Given the description of an element on the screen output the (x, y) to click on. 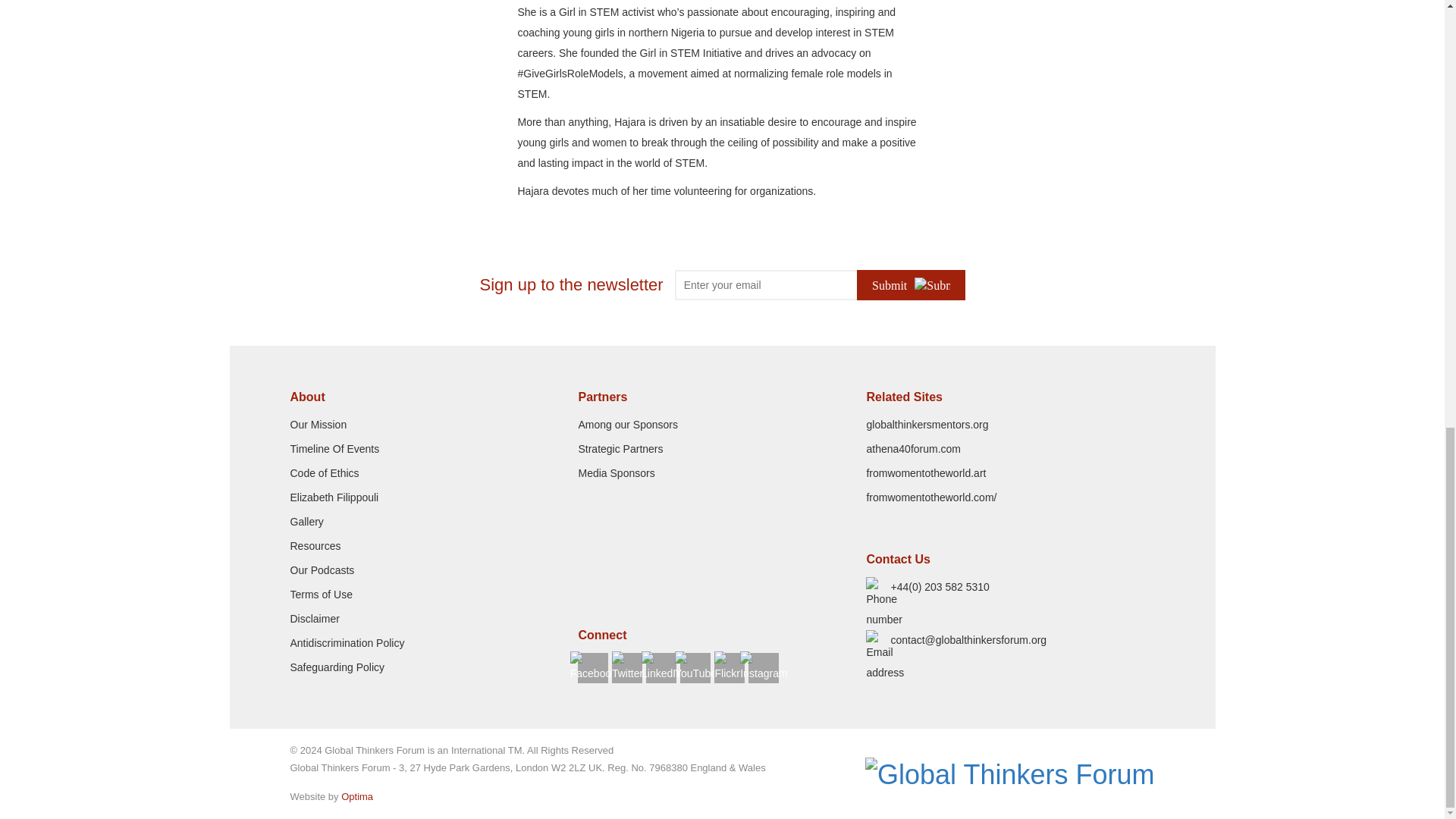
Safeguarding Policy (336, 666)
Our Podcasts (321, 570)
Strategic Partners (620, 449)
fromwomentotheworld.art (925, 472)
Code of Ethics (323, 472)
Terms of Use (320, 594)
Our Mission (317, 424)
globalthinkersmentors.org (927, 424)
Gallery (306, 521)
Disclaimer (314, 618)
About (433, 397)
Resources (314, 545)
Media Sponsors (615, 472)
Antidiscrimination Policy (346, 643)
Related Sites (1010, 397)
